Given the description of an element on the screen output the (x, y) to click on. 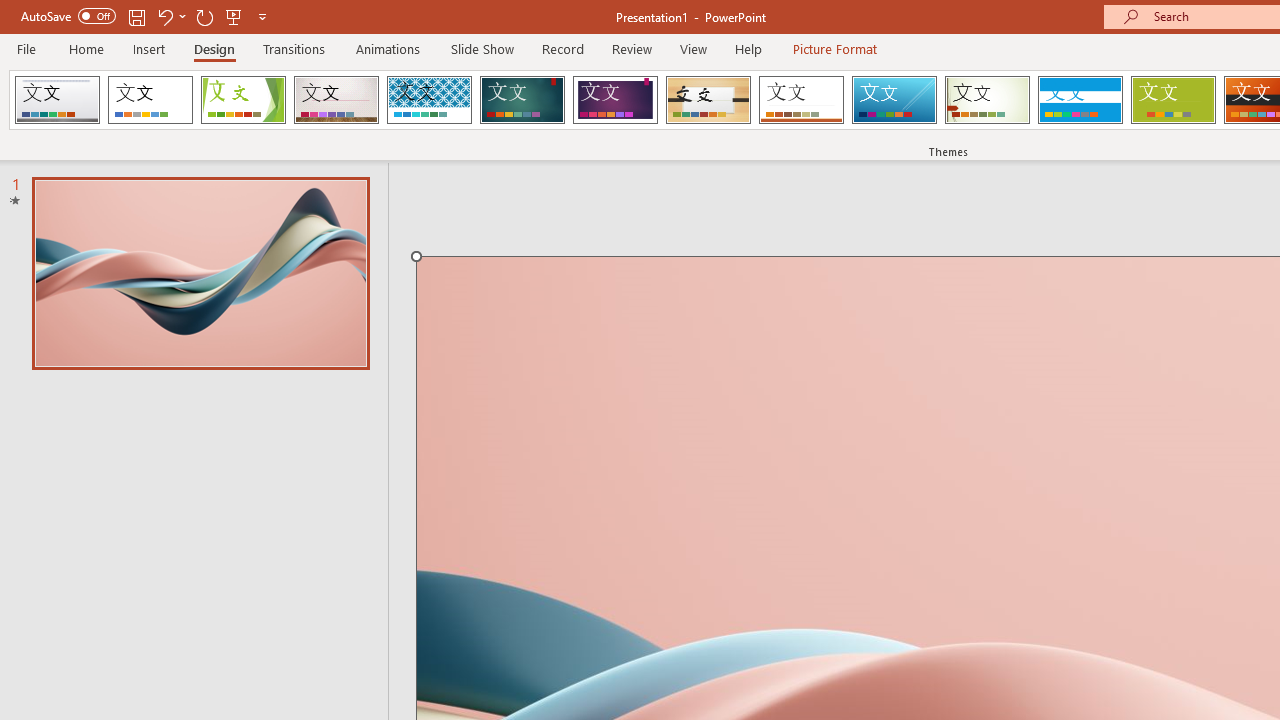
Banded (1080, 100)
